Given the description of an element on the screen output the (x, y) to click on. 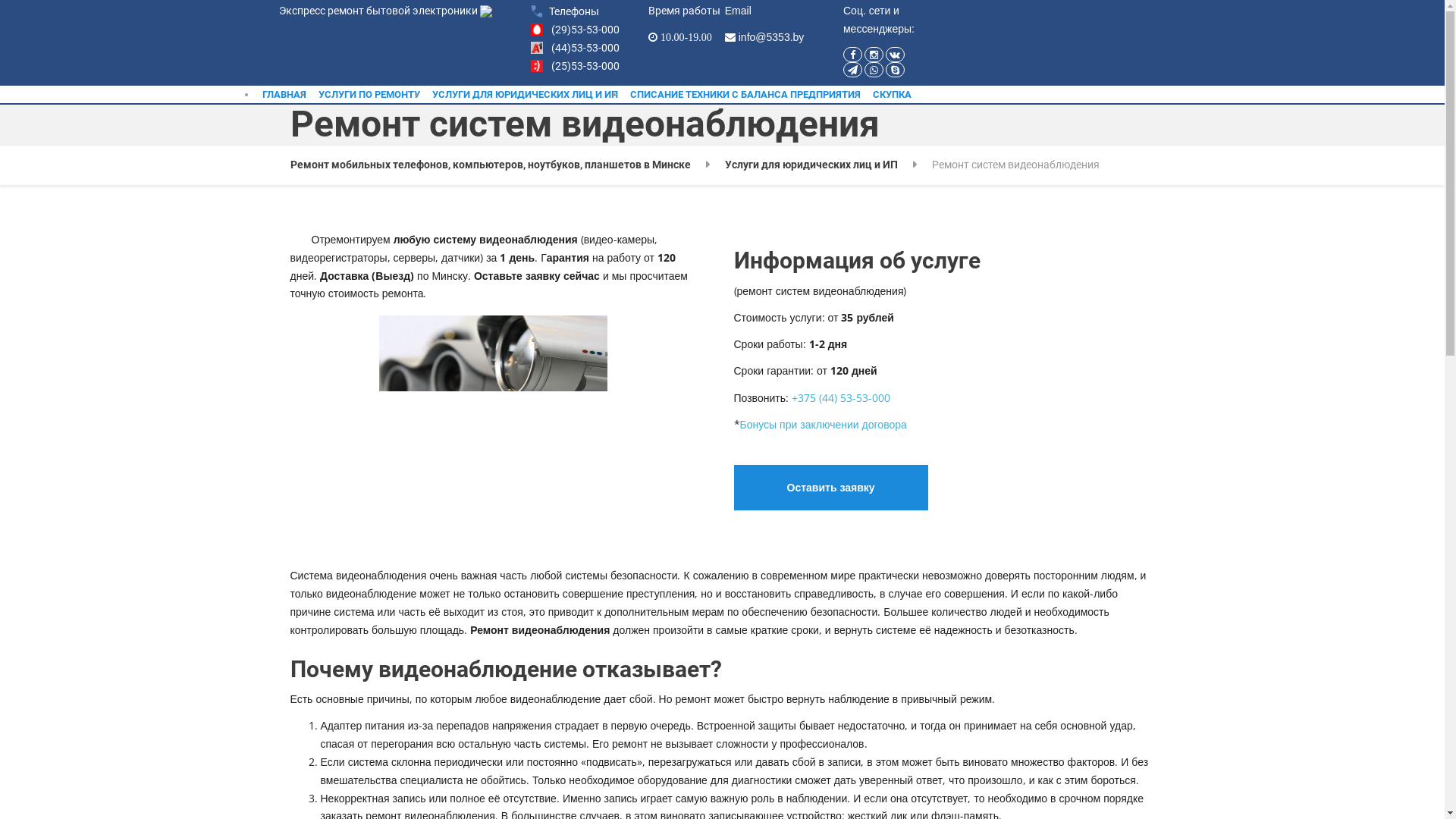
Viber Element type: hover (873, 69)
Instagram Element type: hover (873, 54)
VK Element type: hover (894, 54)
Facebook Element type: hover (852, 54)
Skype Element type: hover (894, 69)
(29)53-53-000 Element type: text (585, 29)
Telegram Element type: hover (852, 69)
+375 (44) 53-53-000 Element type: text (840, 397)
info@5353.by Element type: text (771, 37)
(25)53-53-000 Element type: text (585, 65)
(44)53-53-000 Element type: text (585, 47)
